Given the description of an element on the screen output the (x, y) to click on. 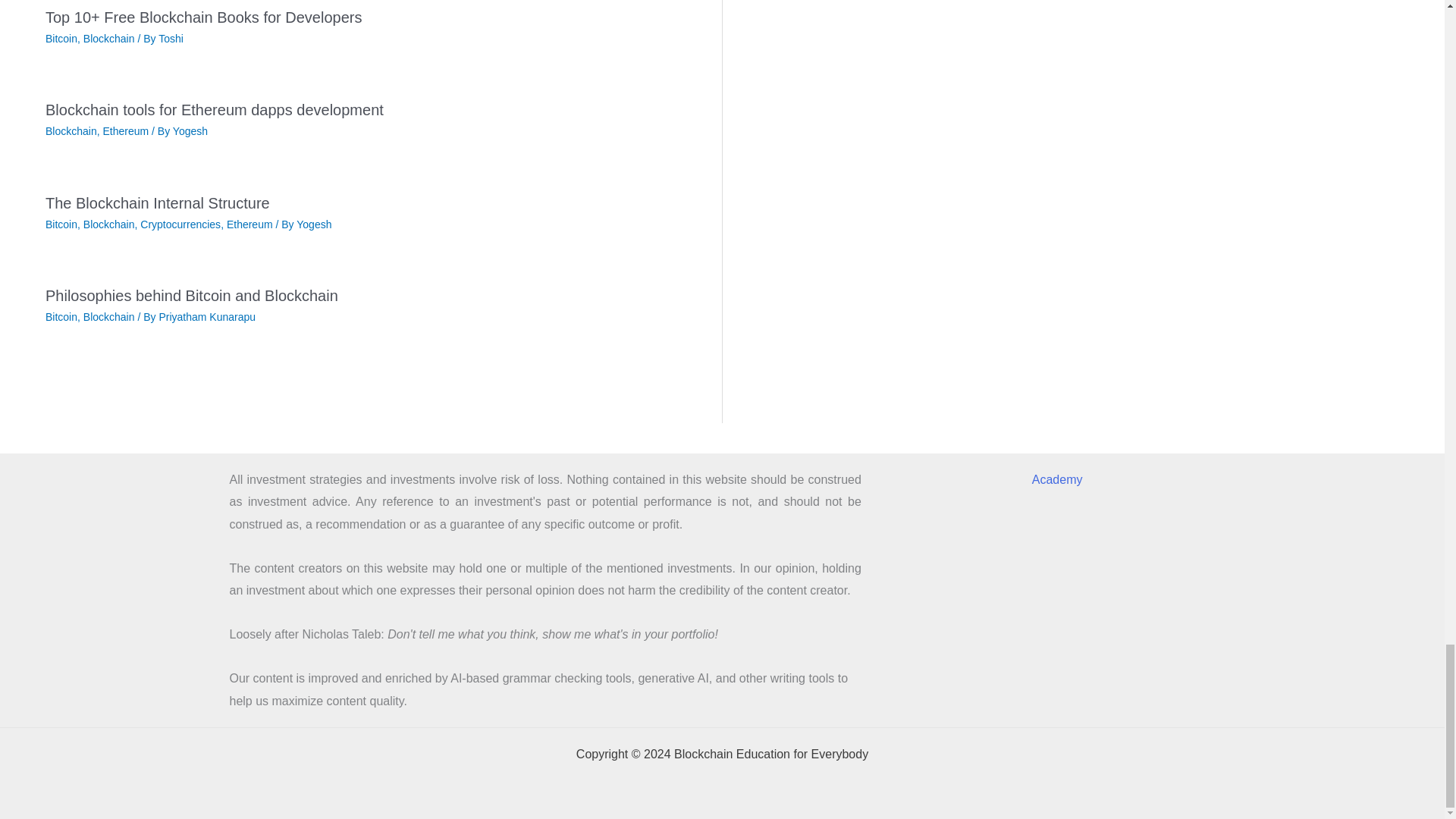
Blockchain tools for Ethereum dapps development (214, 109)
Blockchain (108, 224)
Bitcoin (61, 224)
View all posts by Toshi (170, 38)
Cryptocurrencies (180, 224)
Blockchain (108, 38)
Ethereum (124, 131)
Yogesh (190, 131)
The Blockchain Internal Structure (157, 202)
Toshi (170, 38)
